Given the description of an element on the screen output the (x, y) to click on. 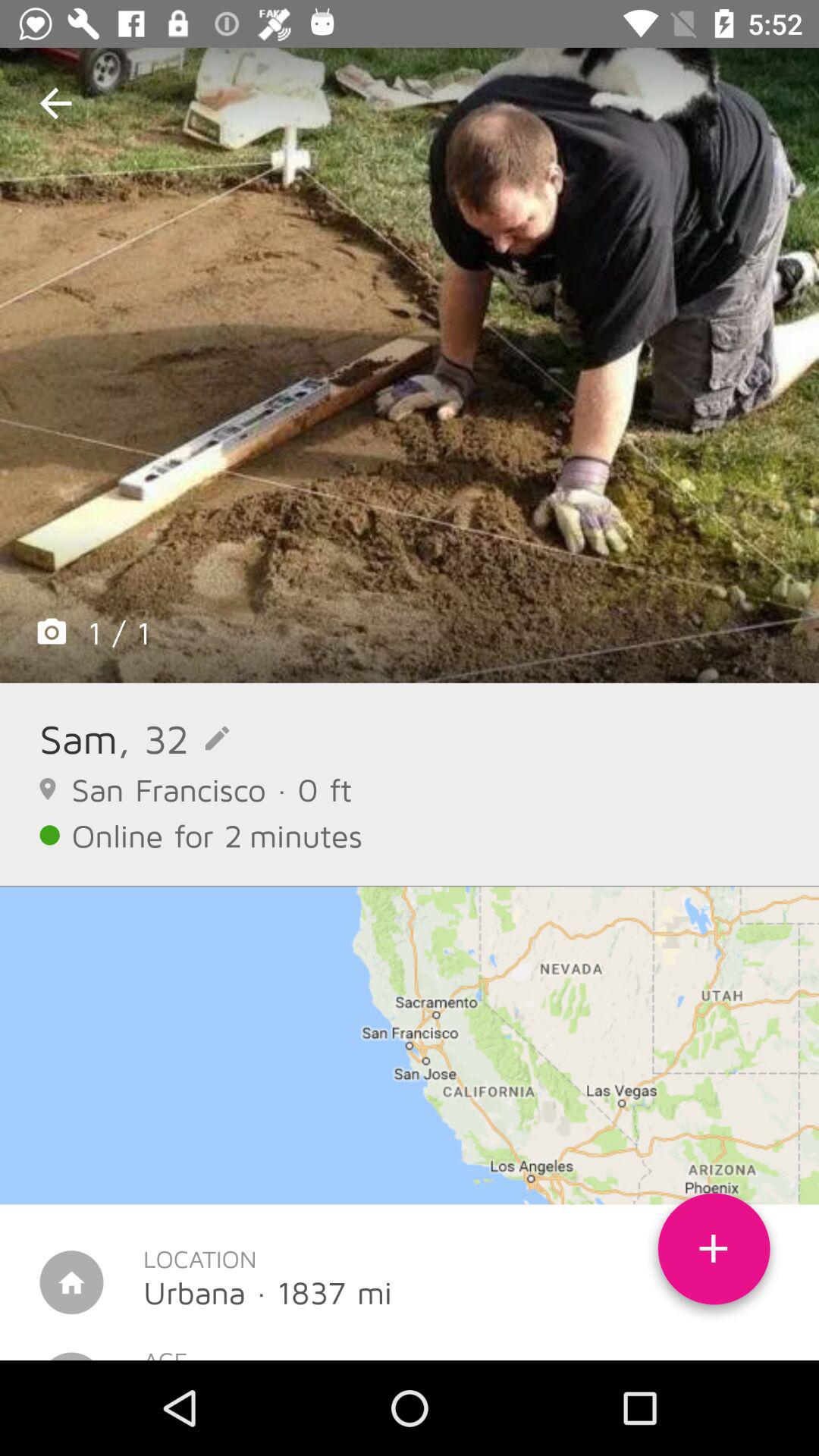
turn on icon at the top left corner (55, 103)
